Given the description of an element on the screen output the (x, y) to click on. 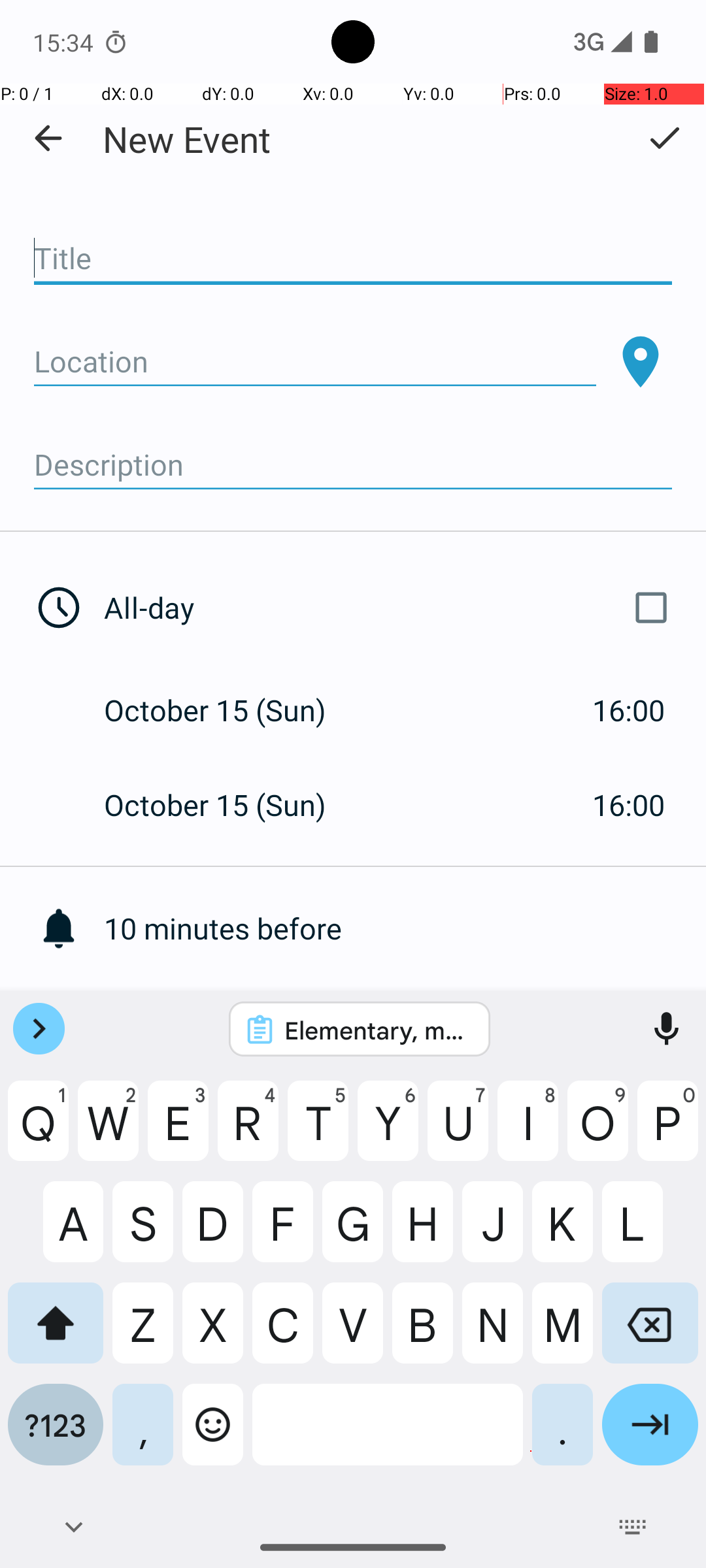
Elementary, my dear Watson. Element type: android.widget.TextView (376, 1029)
